Given the description of an element on the screen output the (x, y) to click on. 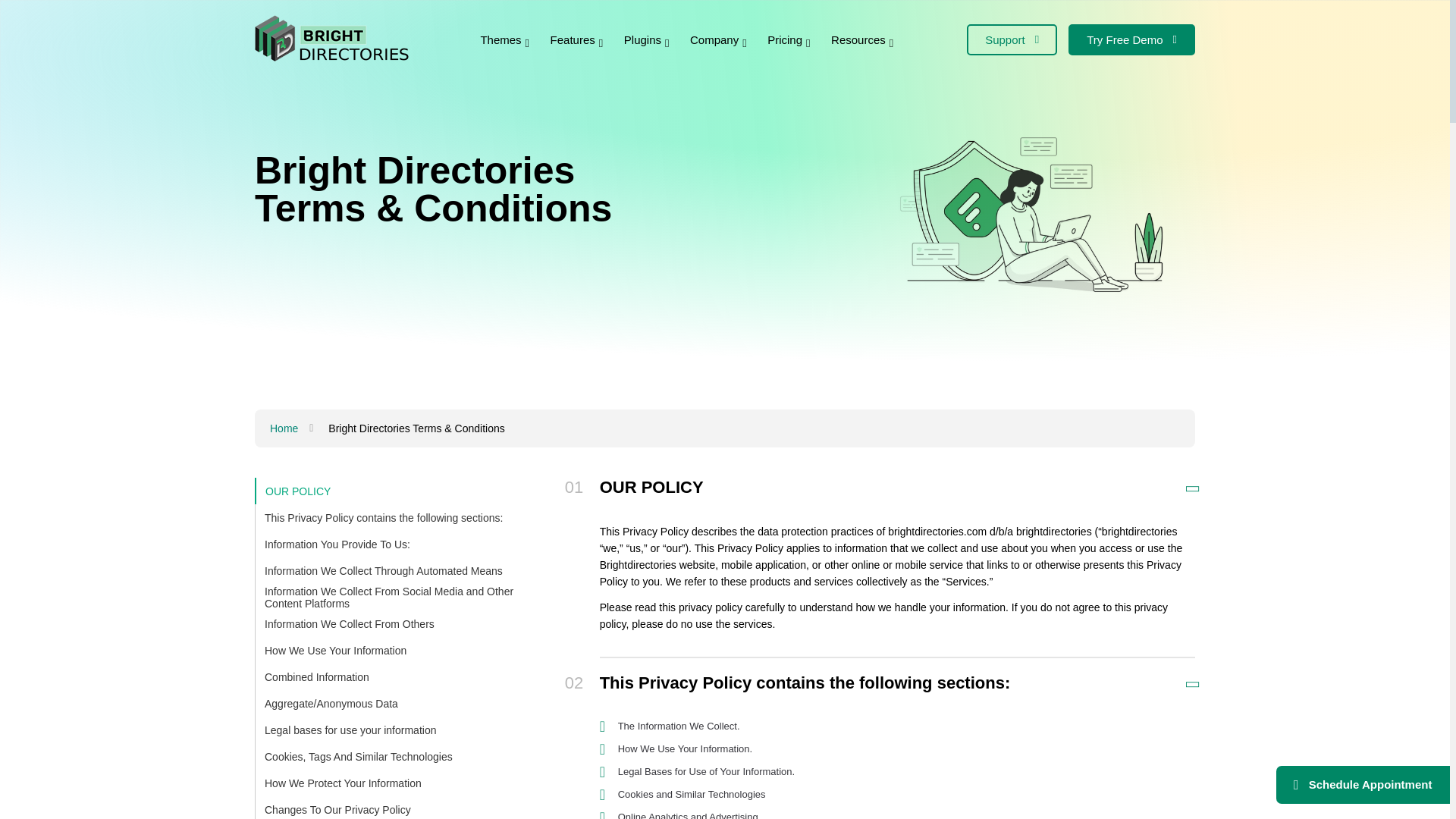
Features (577, 39)
Plugins (647, 39)
Company (719, 39)
Themes (505, 39)
